Given the description of an element on the screen output the (x, y) to click on. 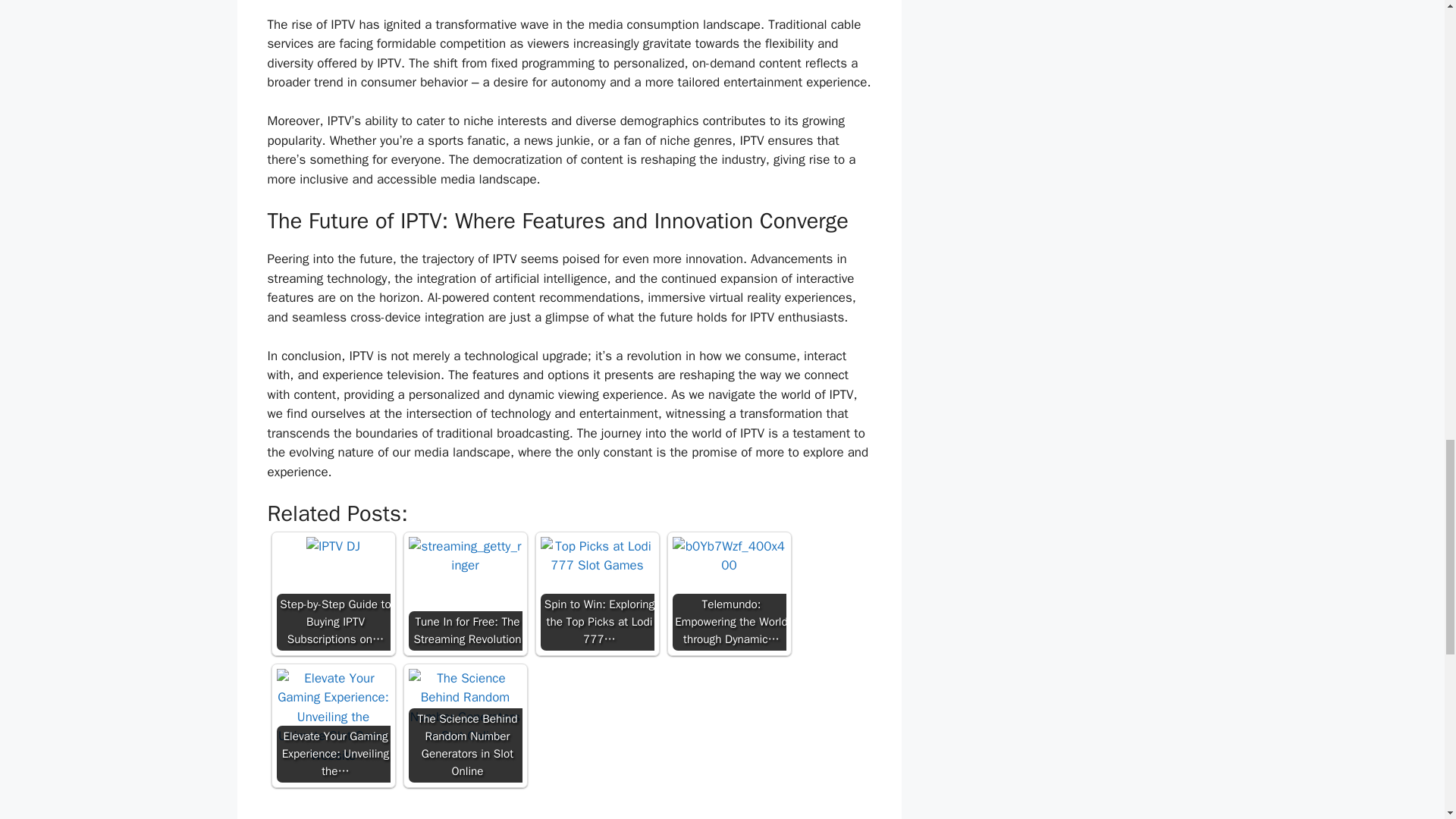
Tune In for Free: The Streaming Revolution (464, 556)
The Science Behind Random Number Generators in Slot Online (464, 707)
